Given the description of an element on the screen output the (x, y) to click on. 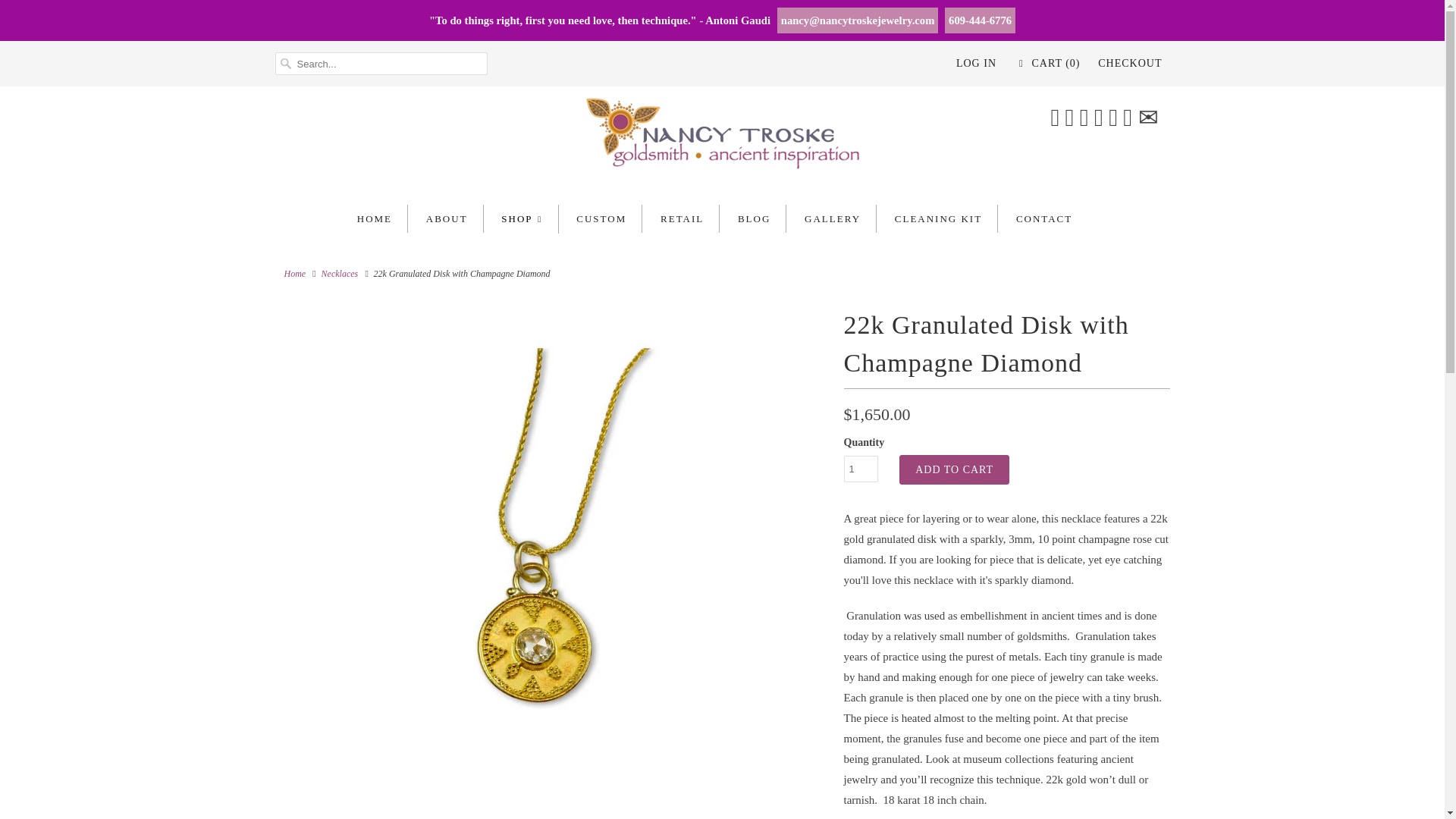
609-444-6776 (979, 20)
Nancy Troske Jewelry  (722, 137)
Nancy Troske Jewelry  (294, 273)
Necklaces (339, 273)
LOG IN (975, 63)
CHECKOUT (1129, 63)
1 (860, 468)
